Given the description of an element on the screen output the (x, y) to click on. 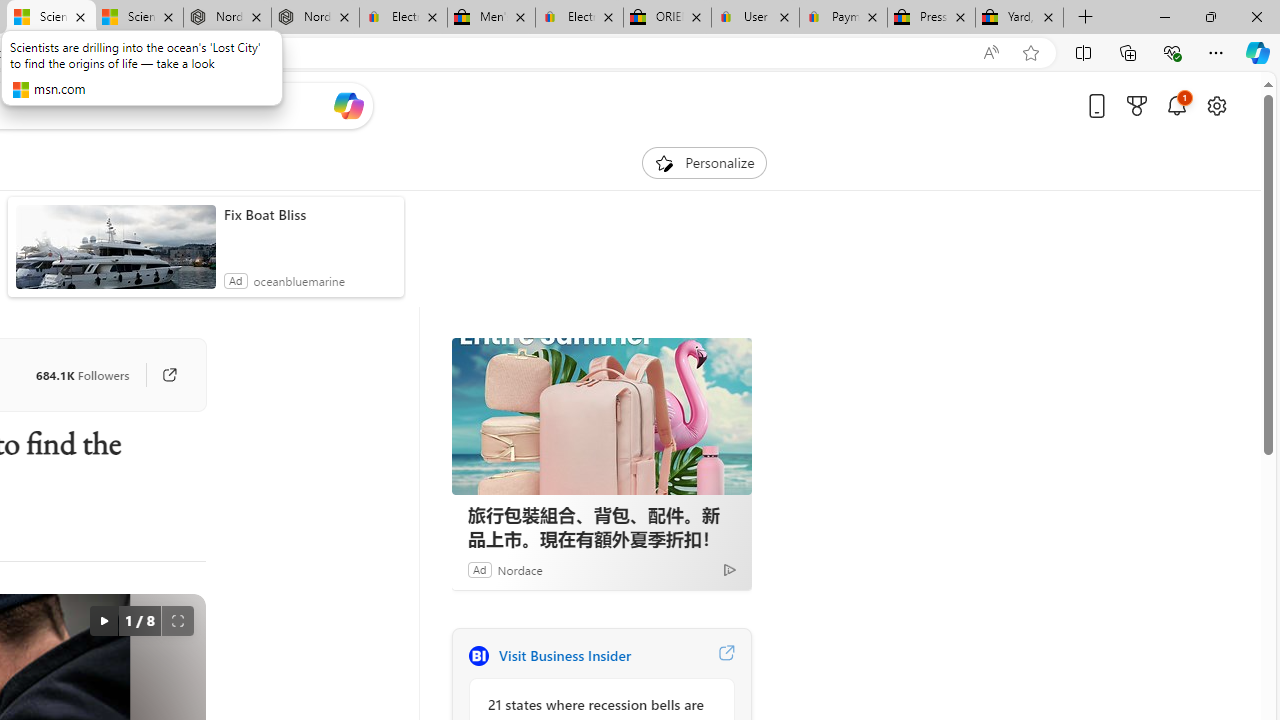
oceanbluemarine (299, 280)
Full screen (177, 620)
Yard, Garden & Outdoor Living (1019, 17)
Payments Terms of Use | eBay.com (843, 17)
User Privacy Notice | eBay (754, 17)
